Given the description of an element on the screen output the (x, y) to click on. 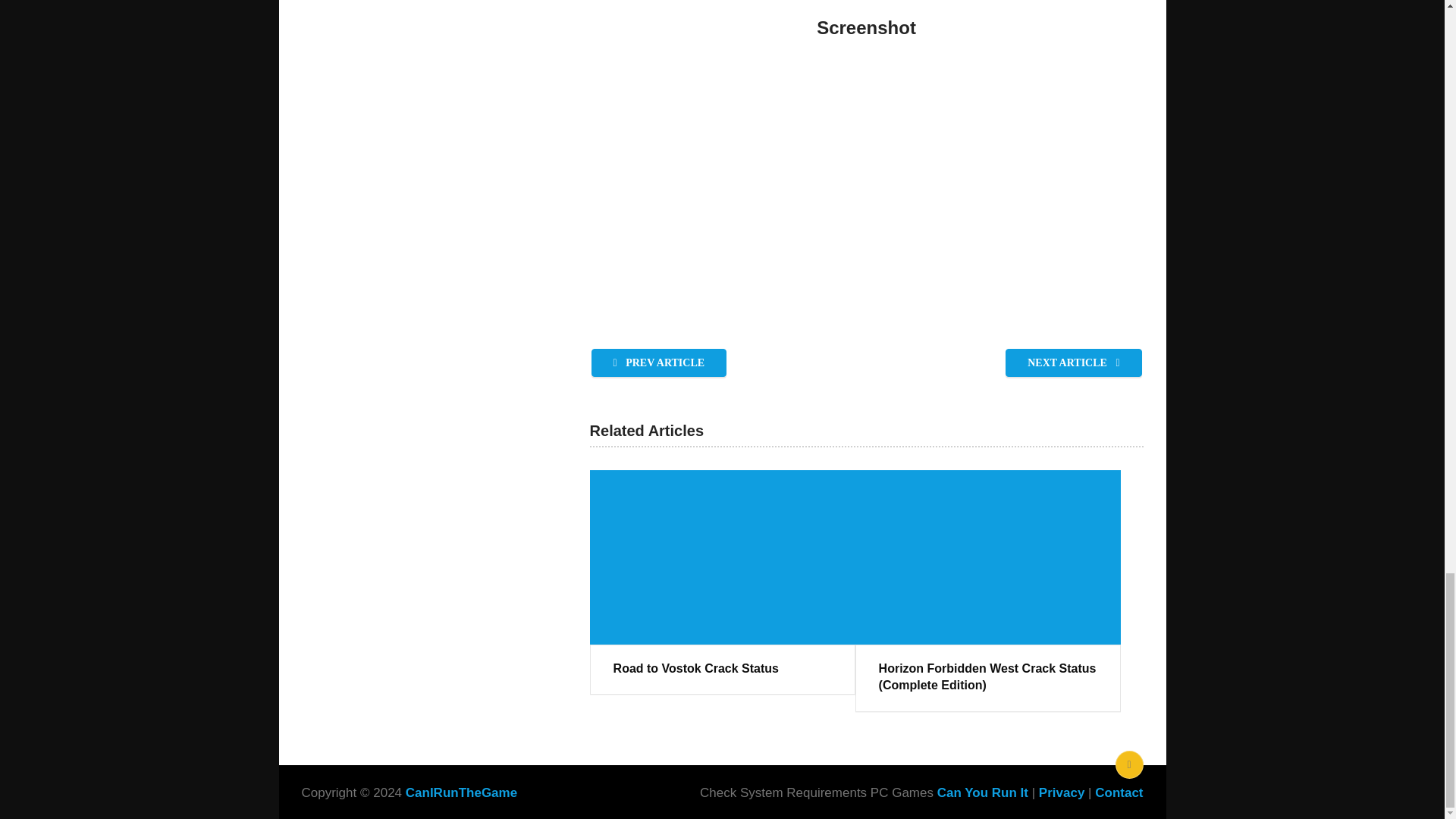
Road to Vostok Crack Status (721, 668)
PREV ARTICLE (658, 362)
Road to Vostok Crack Status (721, 668)
NEXT ARTICLE (1073, 362)
Road to Vostok Crack Status (722, 557)
